Given the description of an element on the screen output the (x, y) to click on. 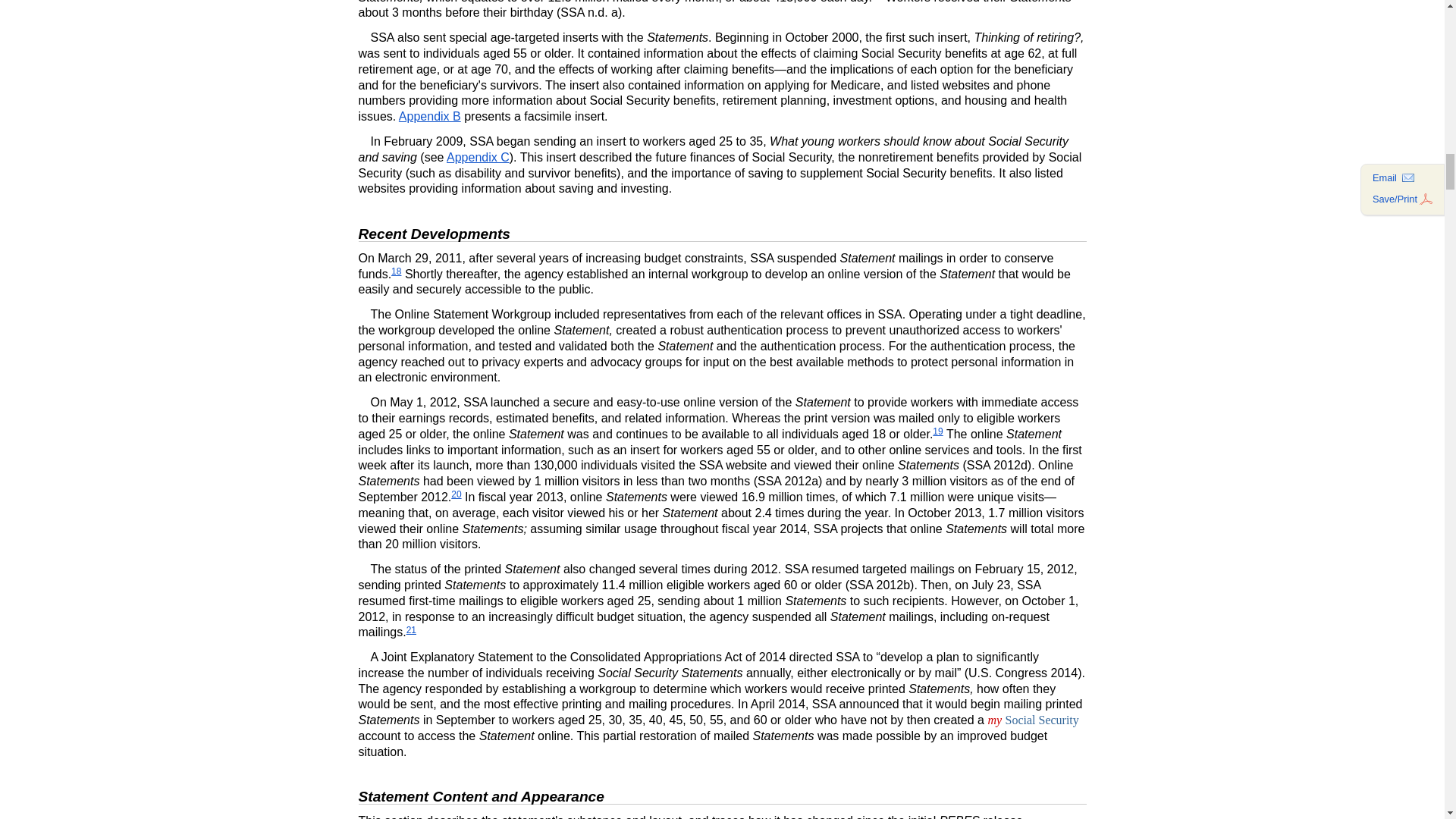
20 (456, 493)
Appendix B (429, 115)
21 (411, 629)
19 (937, 430)
Appendix C (477, 156)
18 (396, 271)
